Given the description of an element on the screen output the (x, y) to click on. 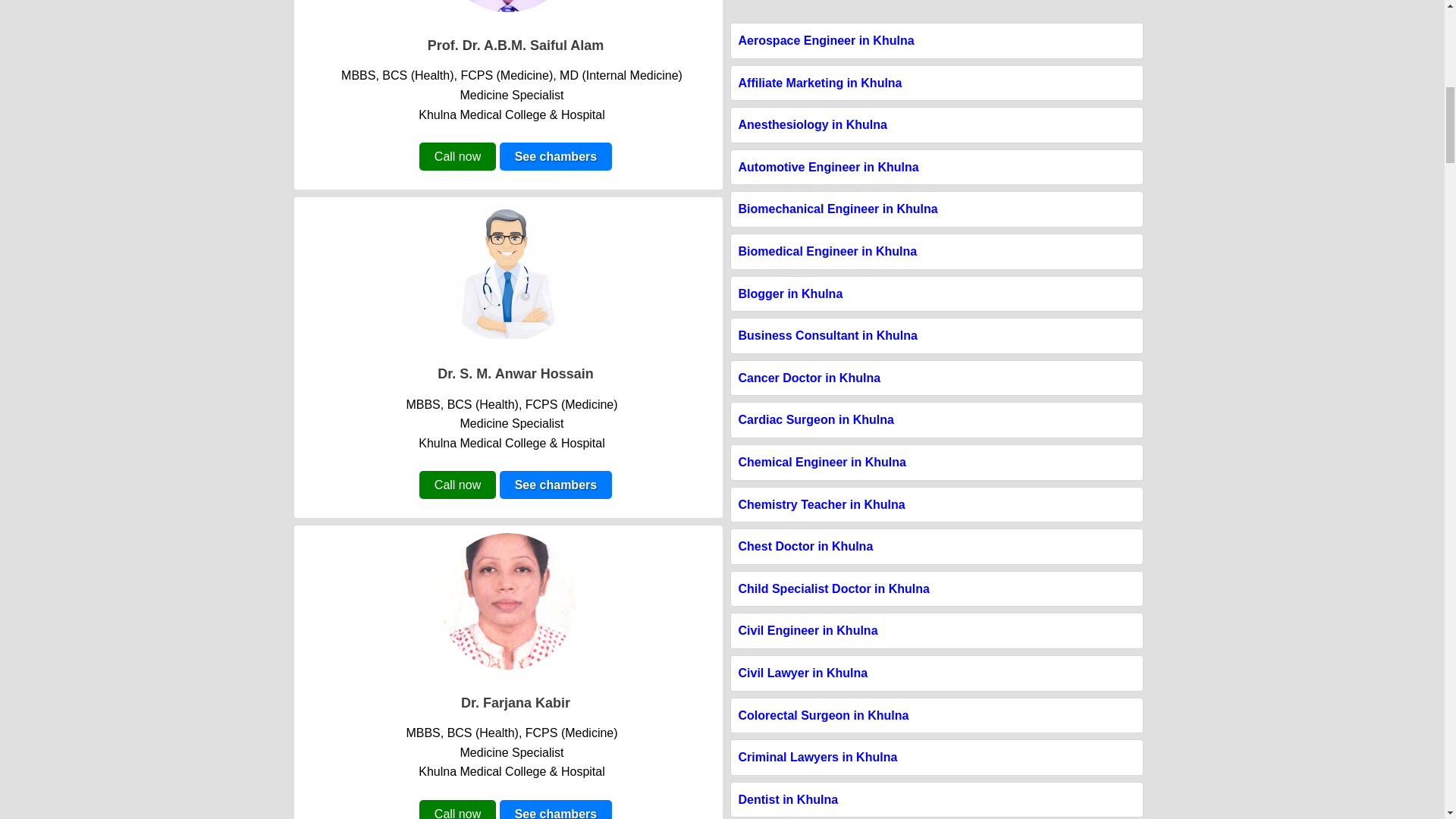
Dr. S. M. Anwar Hossain (515, 373)
See chambers (555, 484)
Dr. Farjana Kabir (515, 702)
See chambers (555, 809)
See chambers (555, 156)
Prof. Dr. A.B.M. Saiful Alam (516, 45)
